Given the description of an element on the screen output the (x, y) to click on. 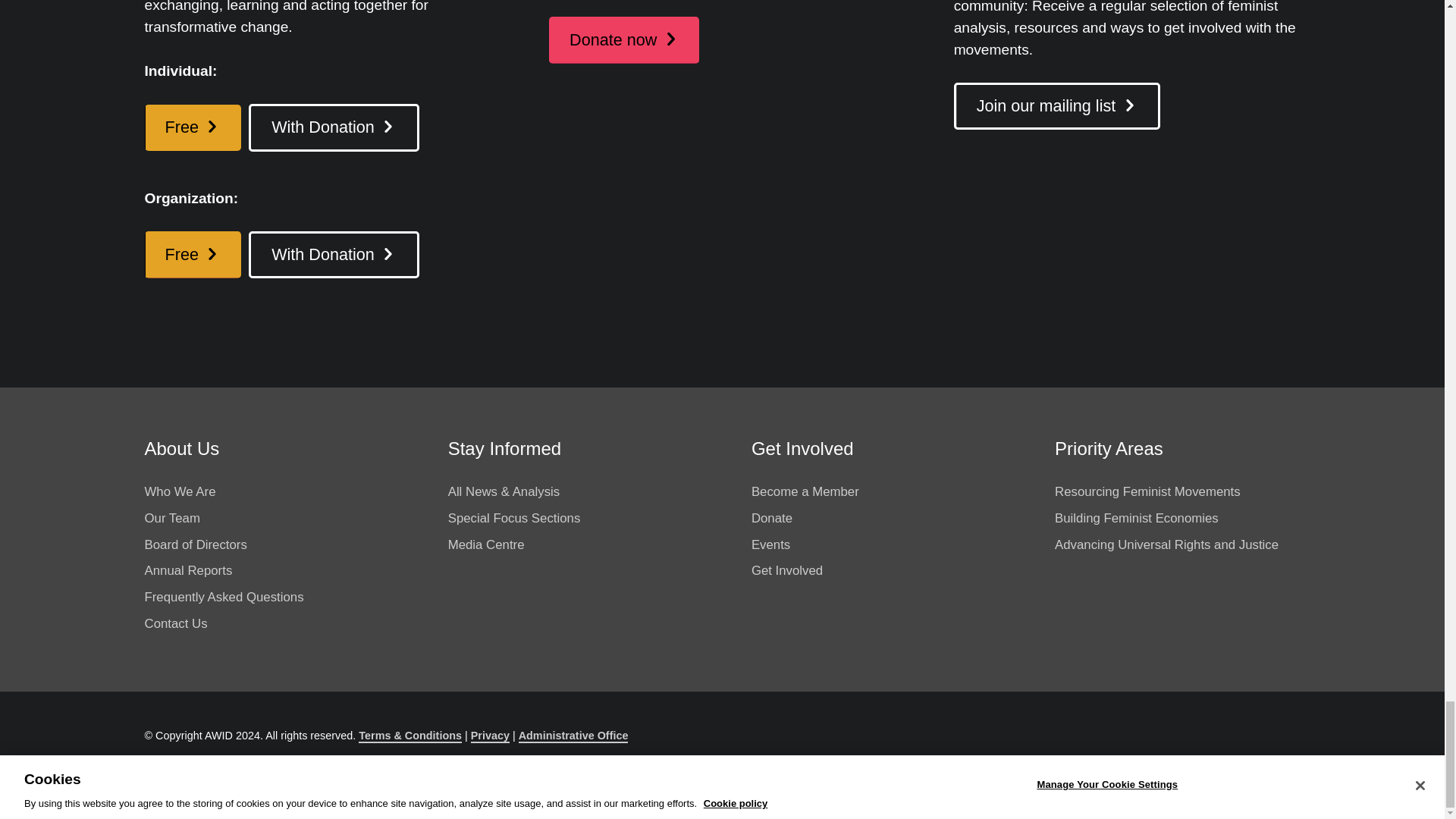
Free (192, 127)
With Donation (333, 127)
Free (192, 254)
With Donation (333, 254)
Donate now (623, 39)
